Given the description of an element on the screen output the (x, y) to click on. 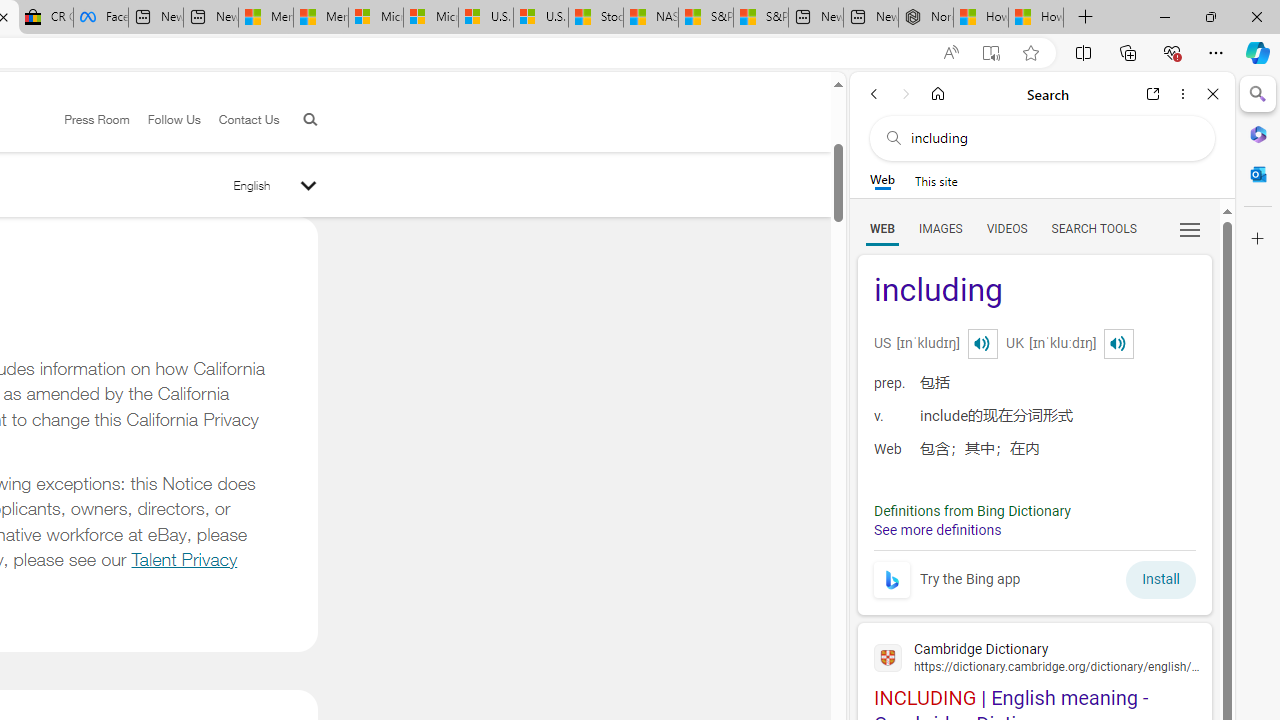
Customize (1258, 239)
Facebook (100, 17)
Outlook (1258, 174)
Search Filter, IMAGES (939, 228)
VIDEOS (1006, 228)
Try the Bing app Install (1034, 574)
